Given the description of an element on the screen output the (x, y) to click on. 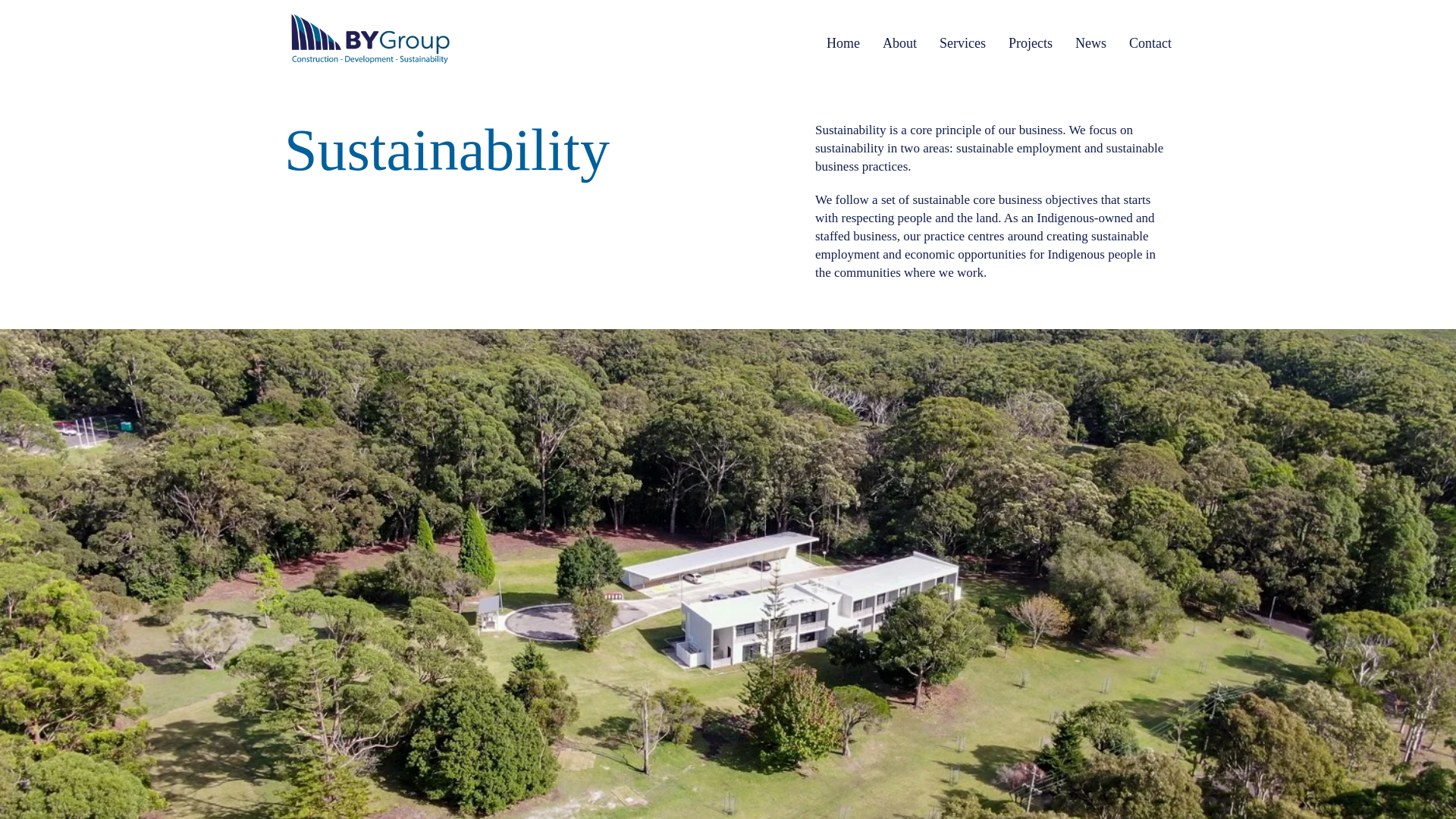
About (899, 43)
Home (843, 43)
Projects (1030, 43)
Contact (1150, 43)
News (1090, 43)
Services (962, 43)
